Given the description of an element on the screen output the (x, y) to click on. 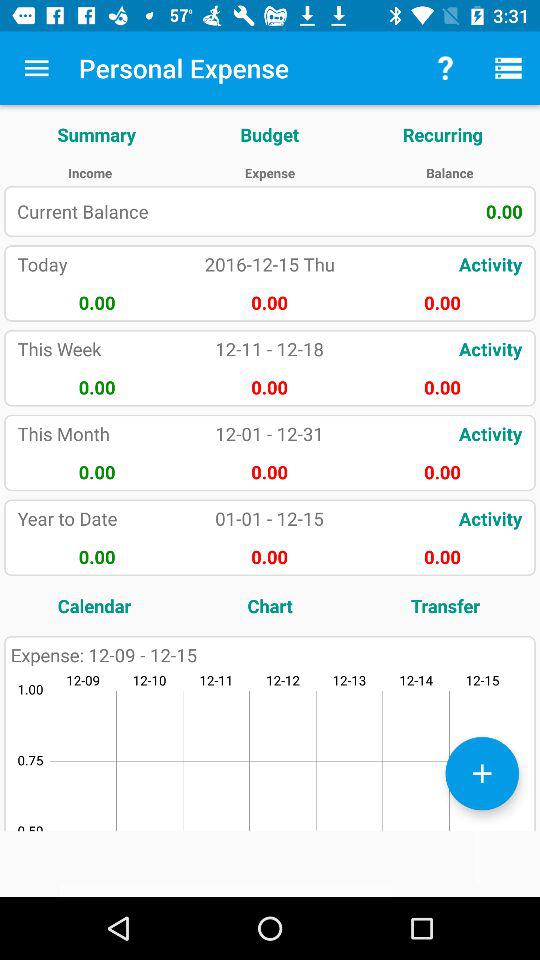
turn off the item to the left of transfer icon (269, 605)
